Given the description of an element on the screen output the (x, y) to click on. 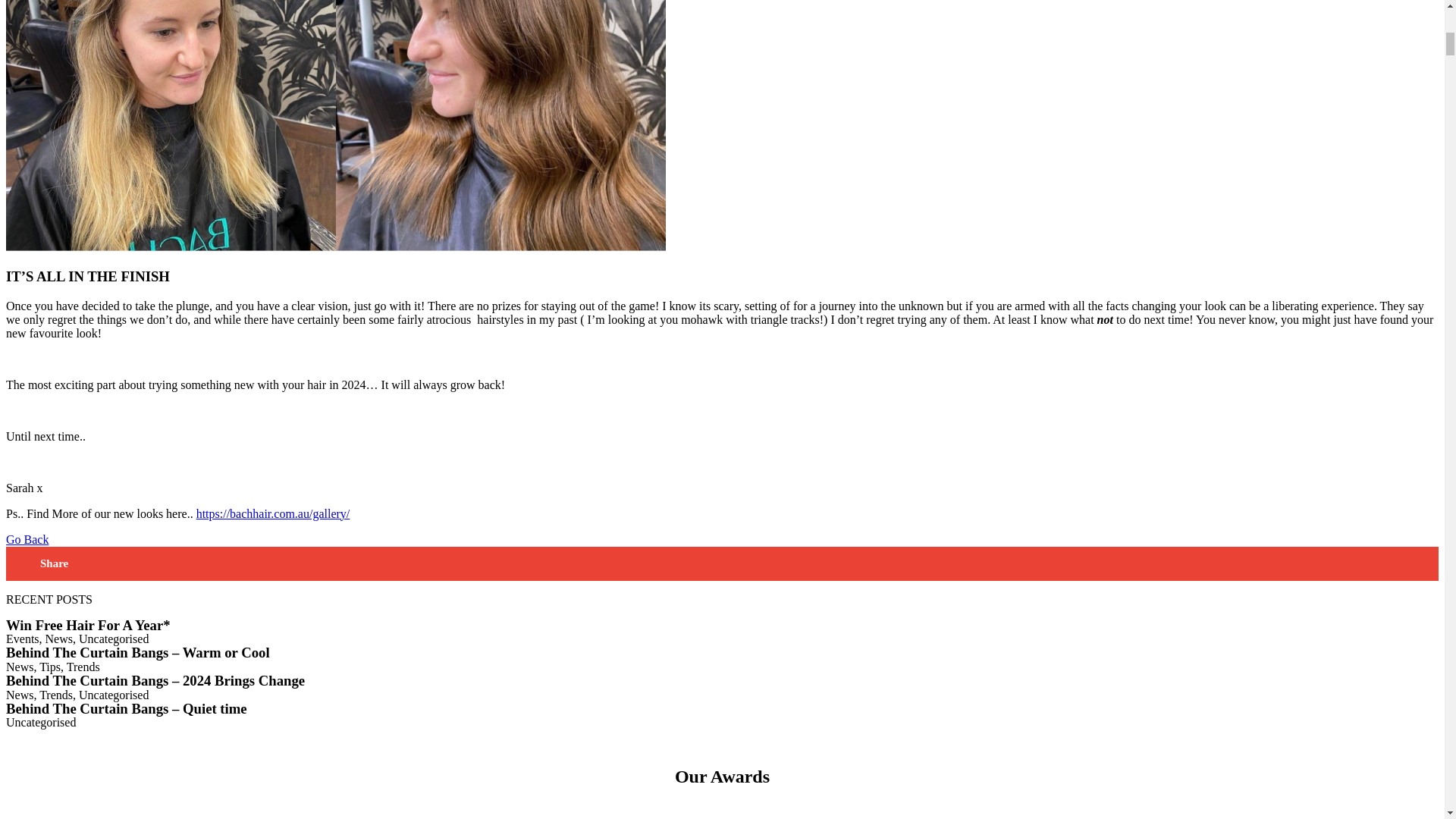
Go Back (26, 539)
